Given the description of an element on the screen output the (x, y) to click on. 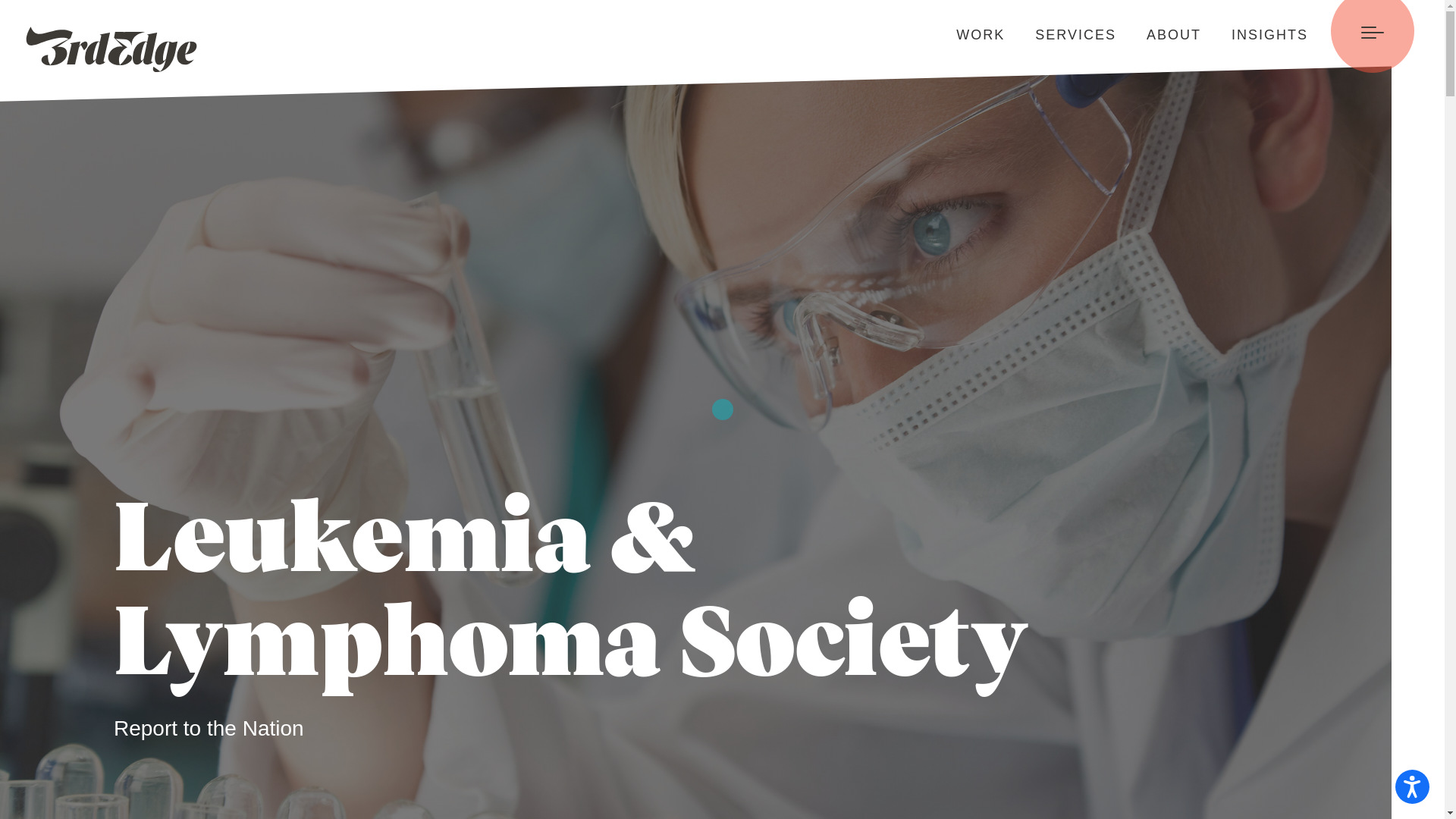
WORK Element type: text (964, 35)
SERVICES Element type: text (1060, 35)
INSIGHTS Element type: text (1254, 35)
ABOUT Element type: text (1158, 35)
